Given the description of an element on the screen output the (x, y) to click on. 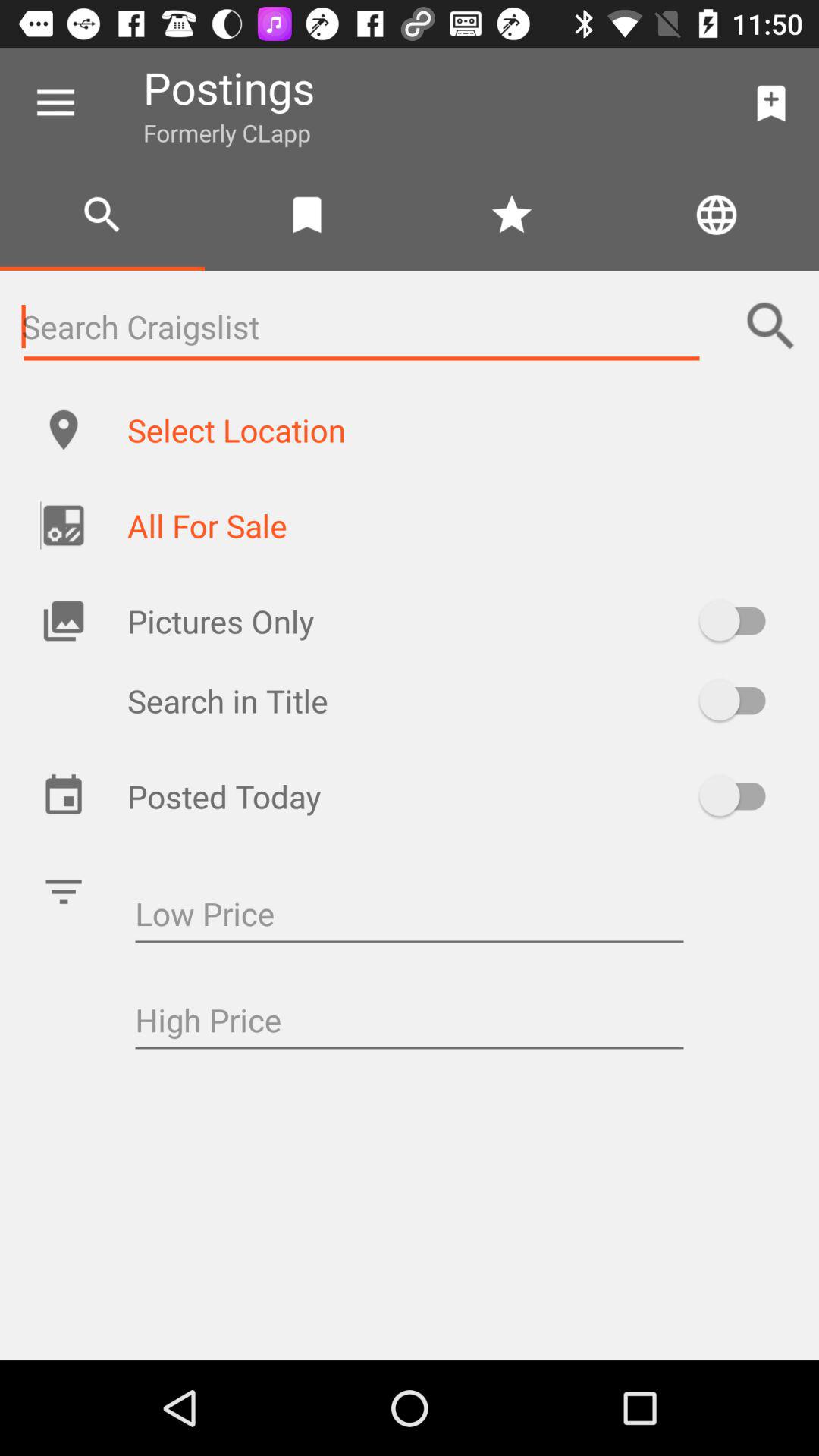
tap the icon above the select location item (771, 326)
